Given the description of an element on the screen output the (x, y) to click on. 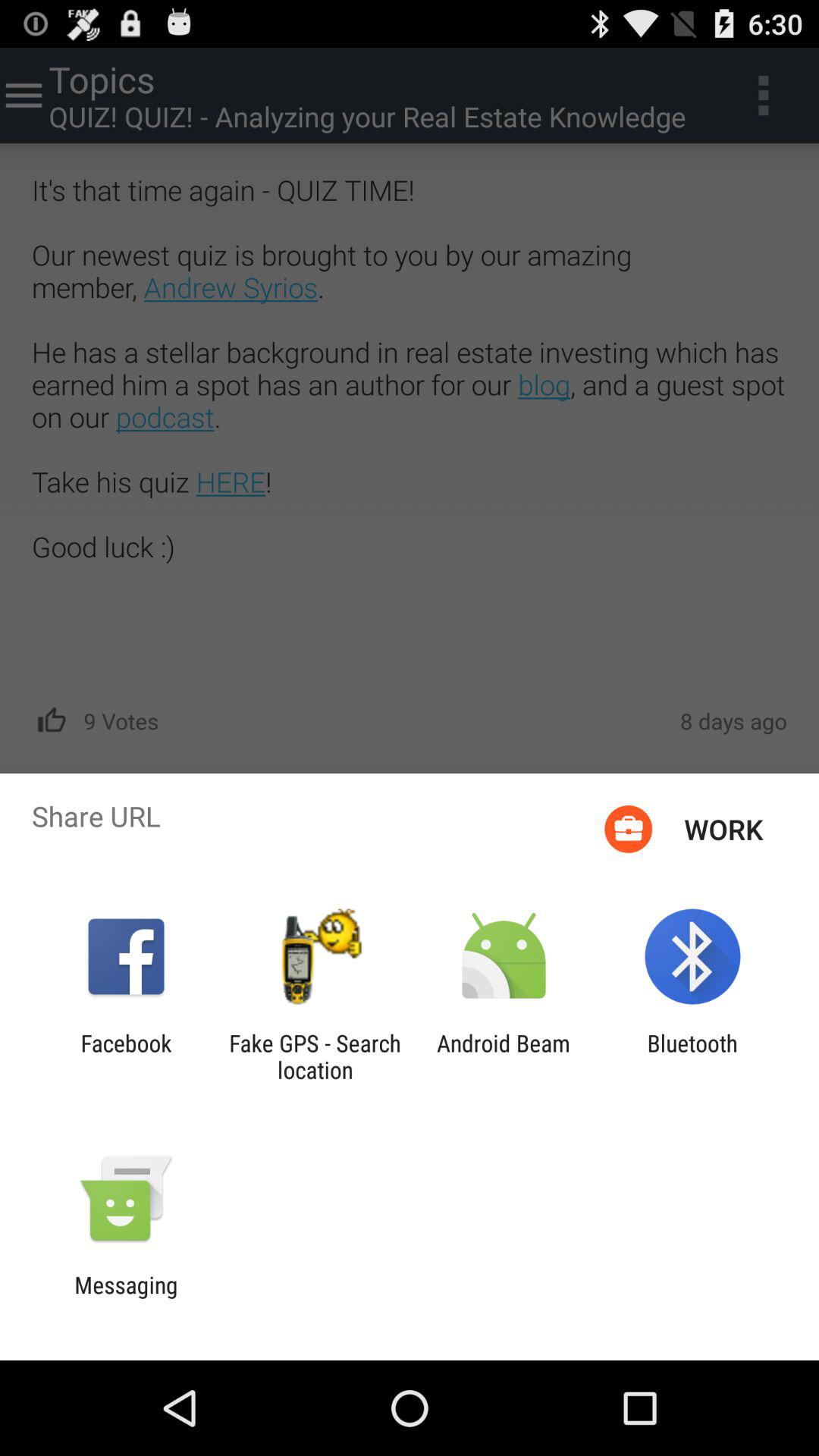
open the fake gps search icon (314, 1056)
